Given the description of an element on the screen output the (x, y) to click on. 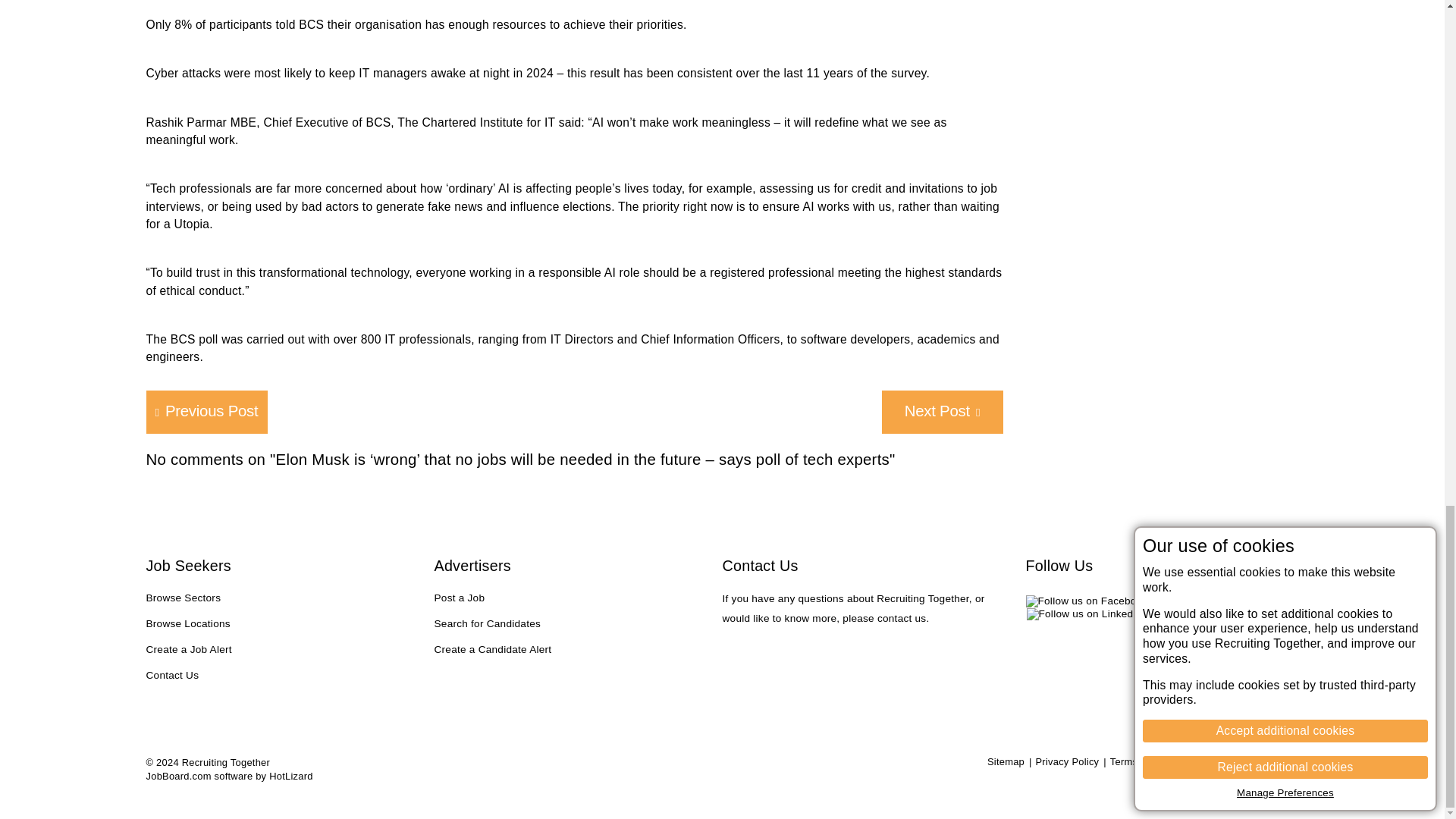
Browse Sectors (183, 598)
Previous Post (205, 412)
Browse Locations (187, 624)
Next Post (941, 412)
